Given the description of an element on the screen output the (x, y) to click on. 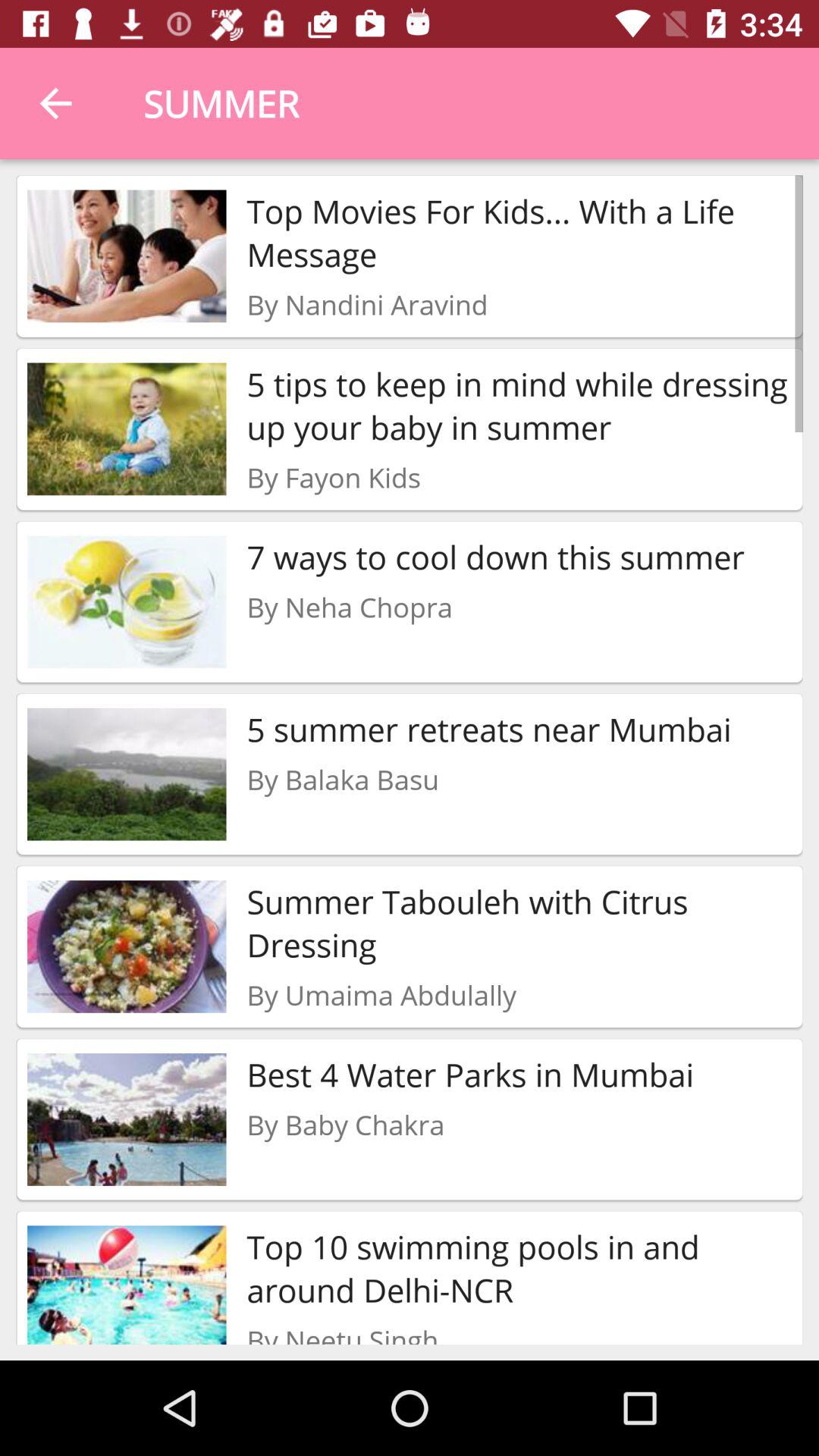
launch item below the 5 tips to icon (333, 476)
